Given the description of an element on the screen output the (x, y) to click on. 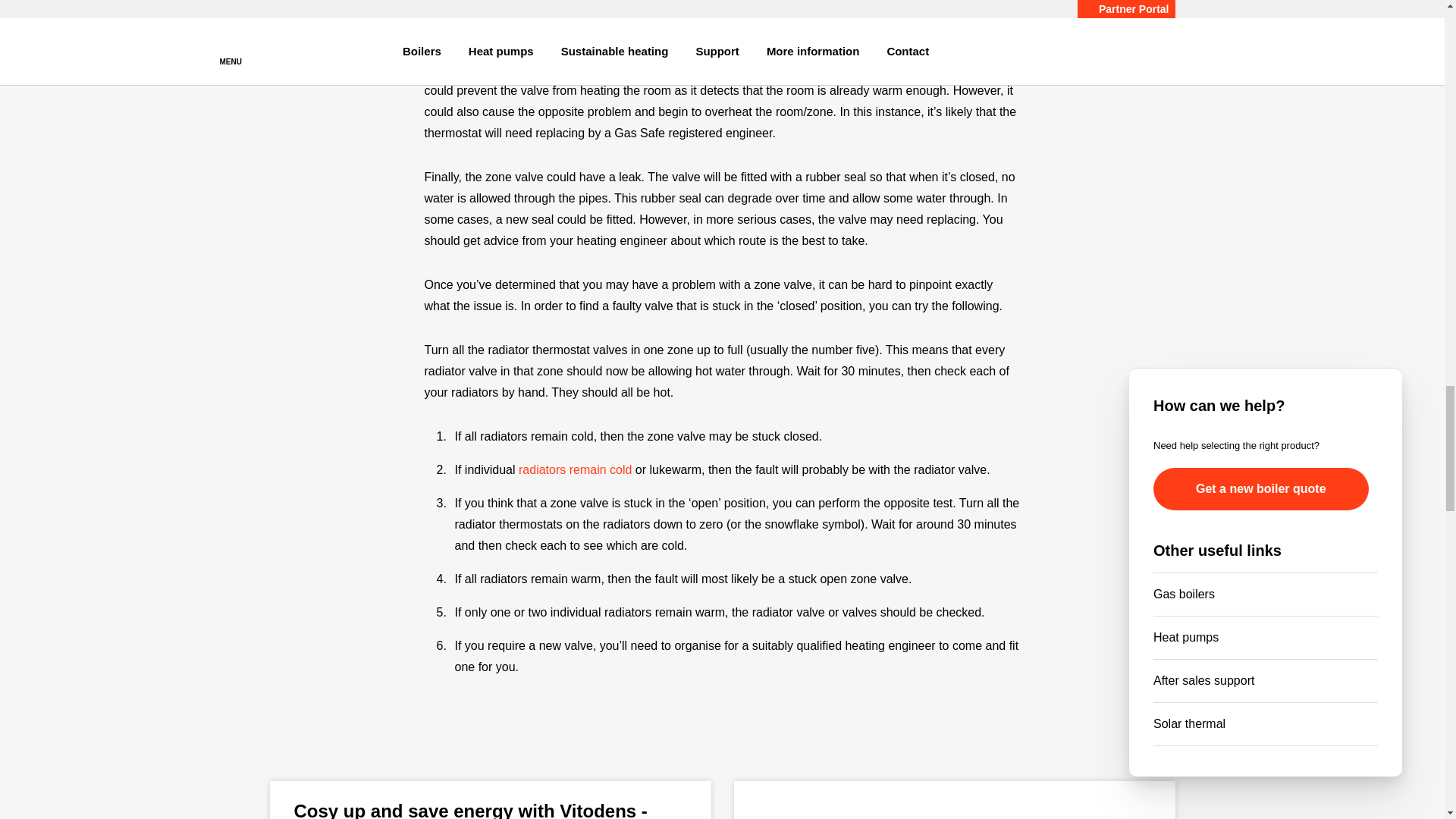
Vitotron (953, 800)
